Given the description of an element on the screen output the (x, y) to click on. 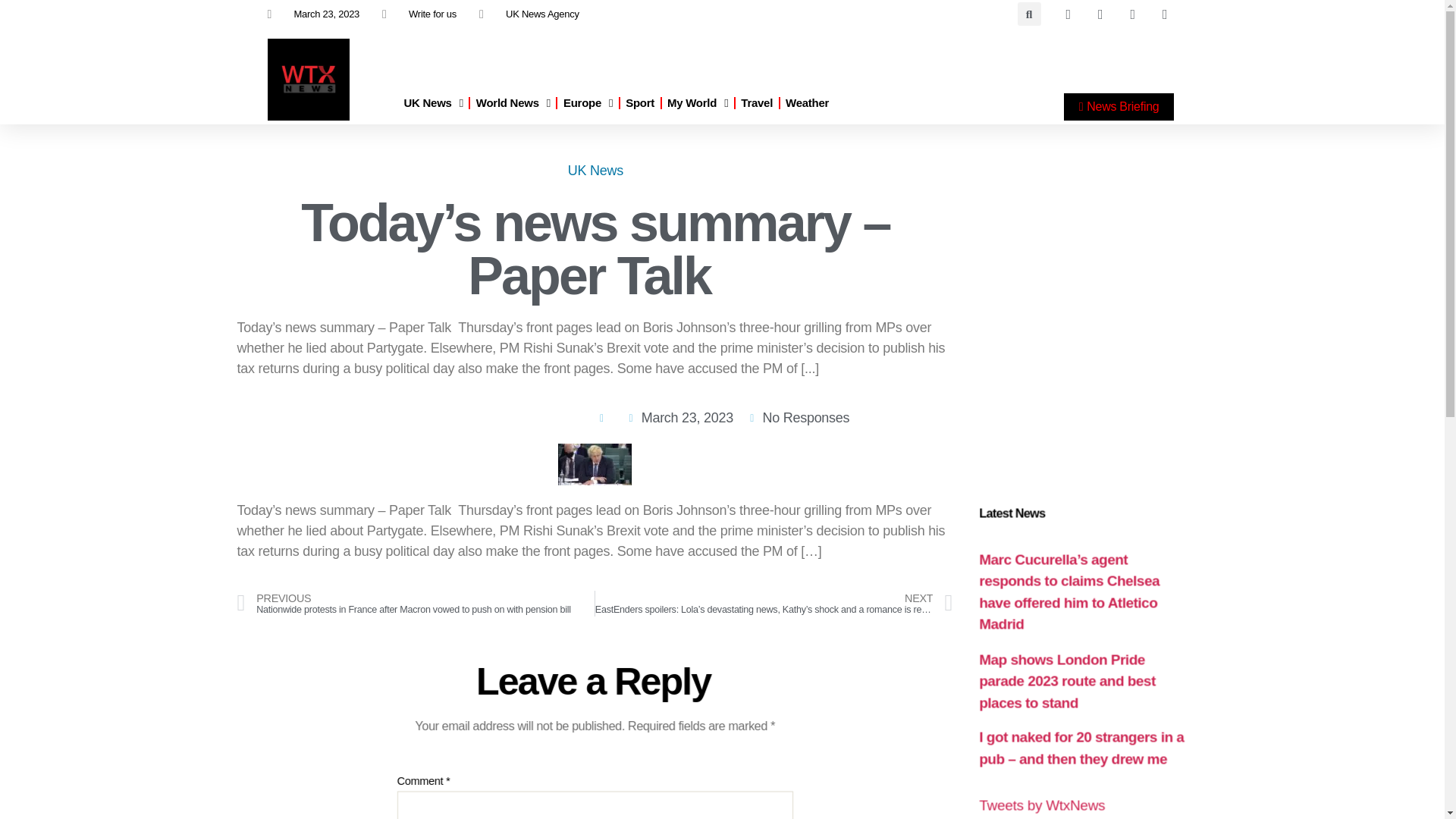
Travel (757, 102)
Weather (807, 102)
News Briefing (1119, 106)
UK News Agency (529, 14)
World News (513, 102)
UK News (433, 102)
My World (697, 102)
Europe (587, 102)
Write for us (419, 14)
